Given the description of an element on the screen output the (x, y) to click on. 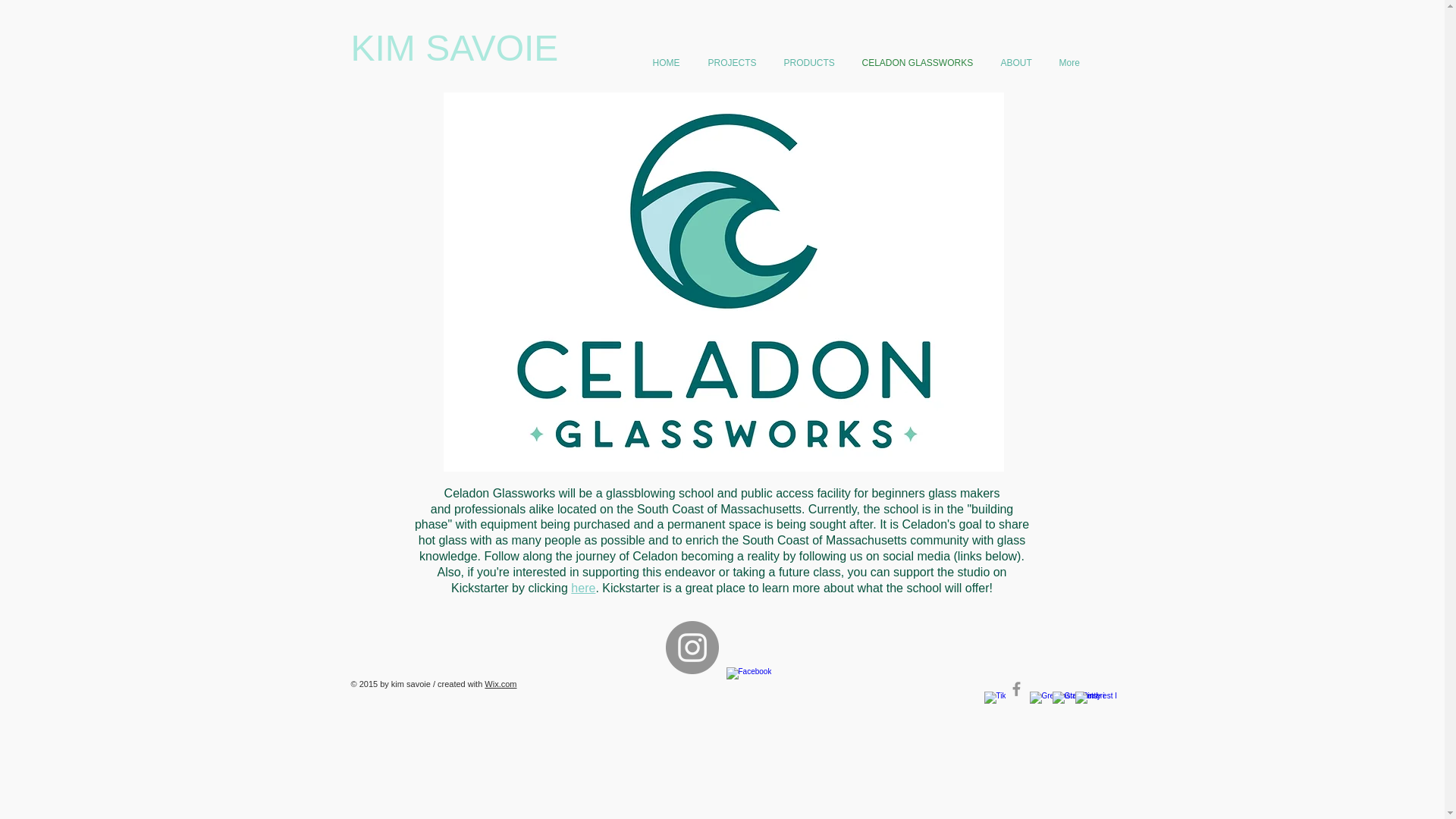
PRODUCTS (809, 63)
here (582, 587)
HOME (667, 63)
CELADON GLASSWORKS (918, 63)
Wix.com (500, 683)
